Given the description of an element on the screen output the (x, y) to click on. 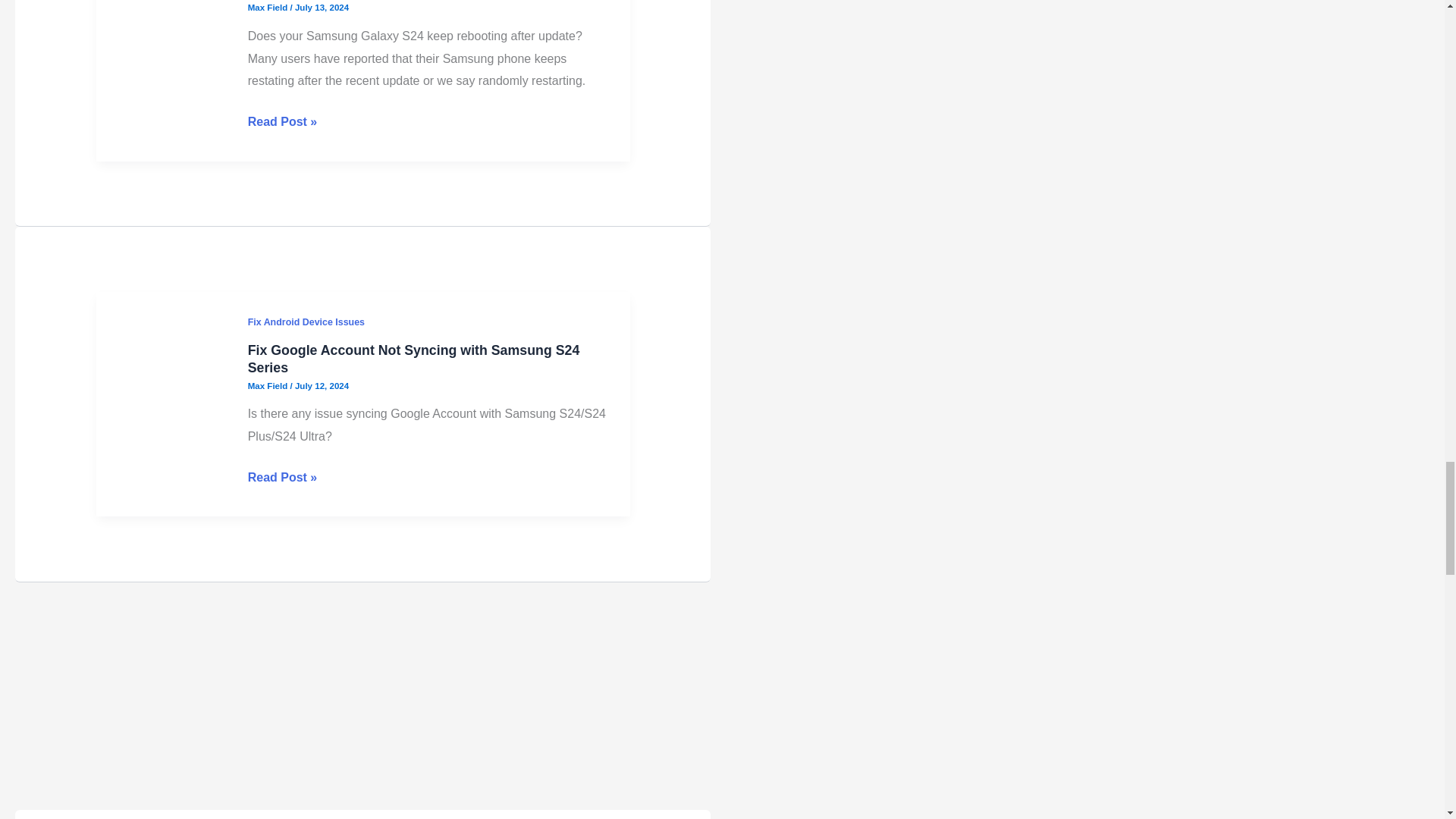
View all posts by Max Field (268, 221)
View all posts by Max Field (268, 621)
